Given the description of an element on the screen output the (x, y) to click on. 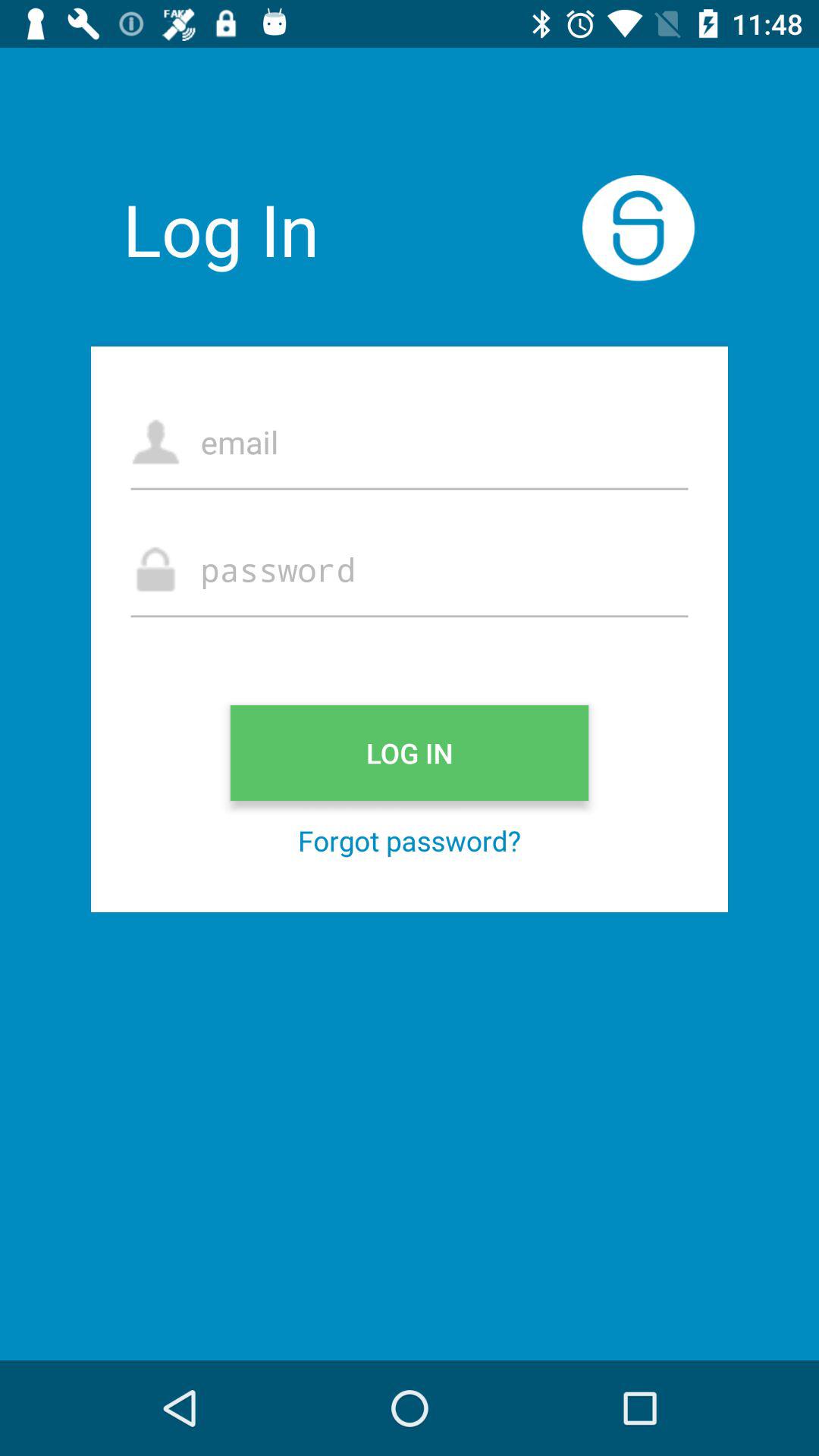
scroll until forgot password? (409, 840)
